Given the description of an element on the screen output the (x, y) to click on. 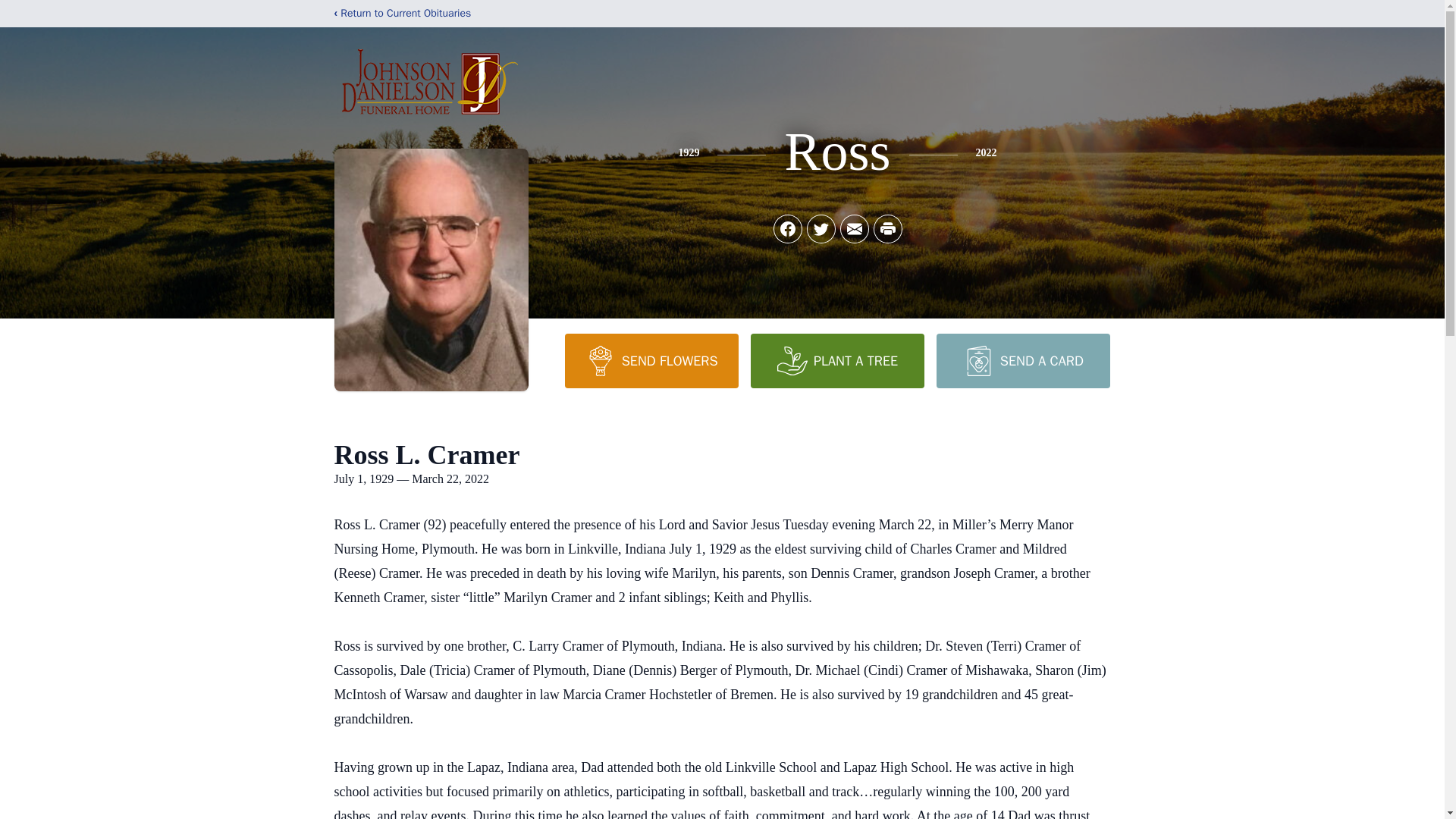
SEND A CARD (1022, 360)
PLANT A TREE (837, 360)
SEND FLOWERS (651, 360)
